Given the description of an element on the screen output the (x, y) to click on. 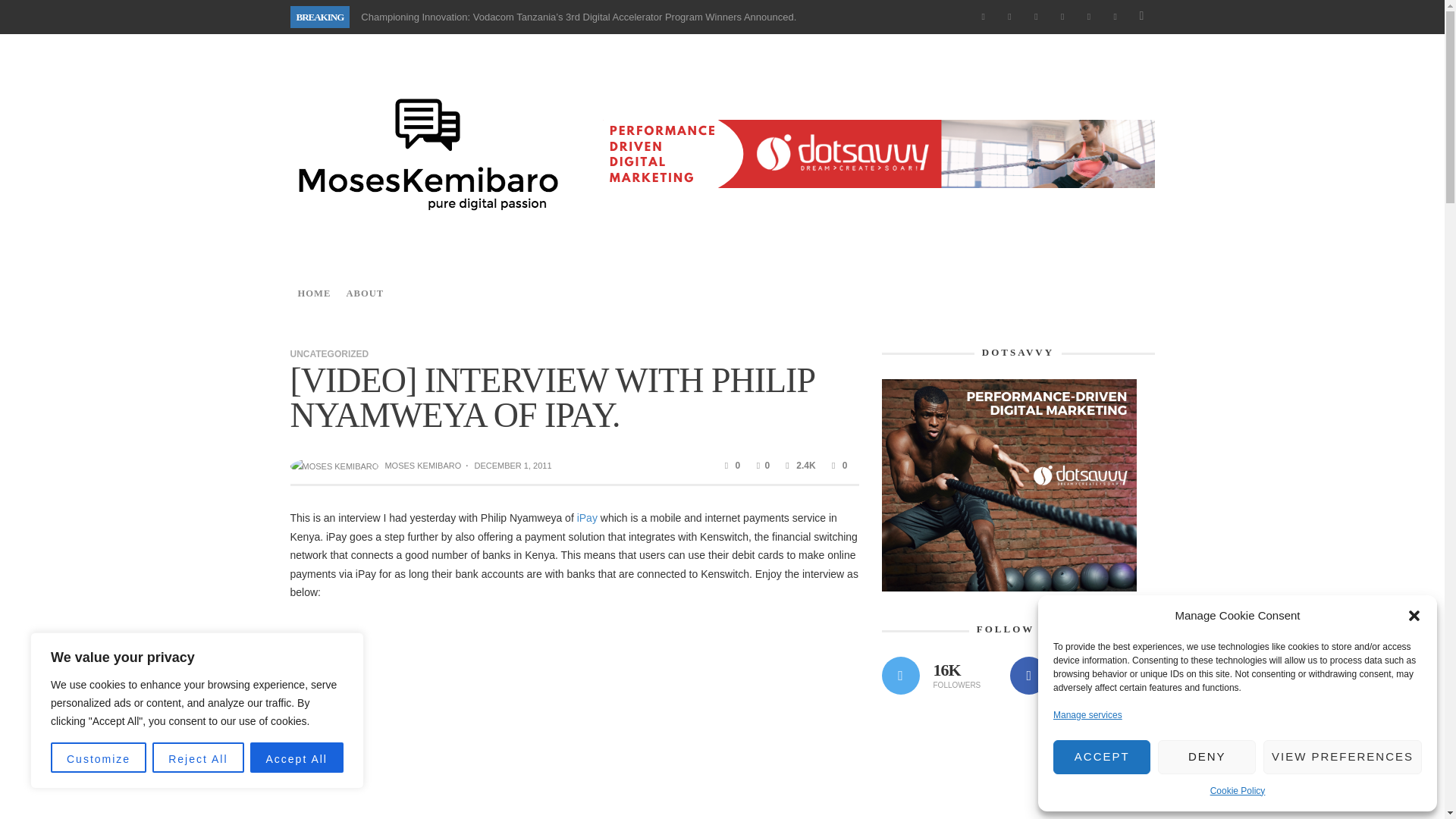
Twitter (1089, 16)
VIEW PREFERENCES (1342, 756)
Youtube (1114, 16)
Cookie Policy (1237, 790)
Instagram (1035, 16)
Customize (98, 757)
LinkedIn (1062, 16)
Facebook (983, 16)
Reject All (197, 757)
Accept All (296, 757)
ACCEPT (1101, 756)
Manage services (1087, 714)
Like our facebook (1029, 675)
Follow our twitter (899, 675)
DENY (1206, 756)
